Given the description of an element on the screen output the (x, y) to click on. 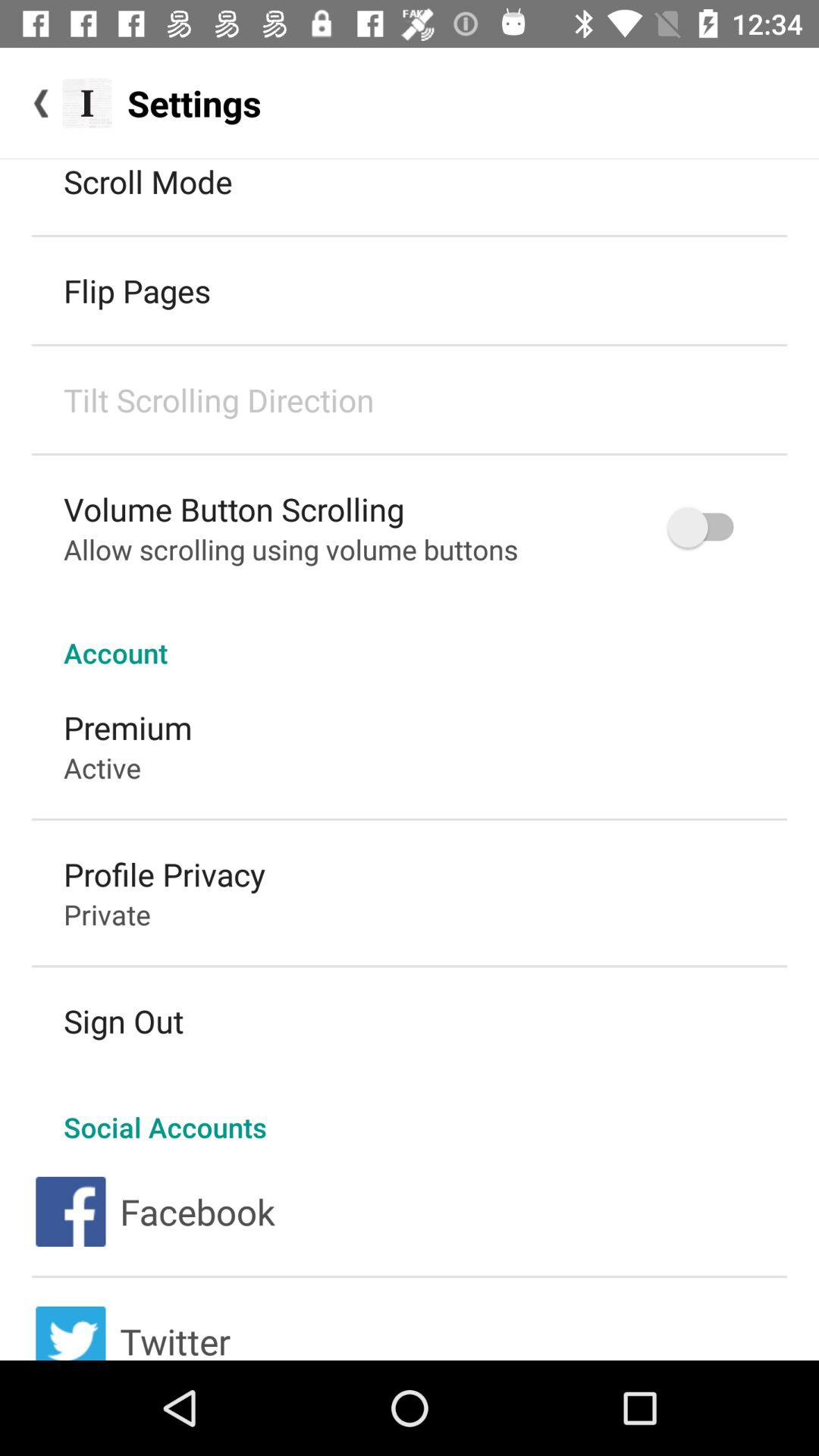
click the icon below flip pages icon (218, 399)
